Given the description of an element on the screen output the (x, y) to click on. 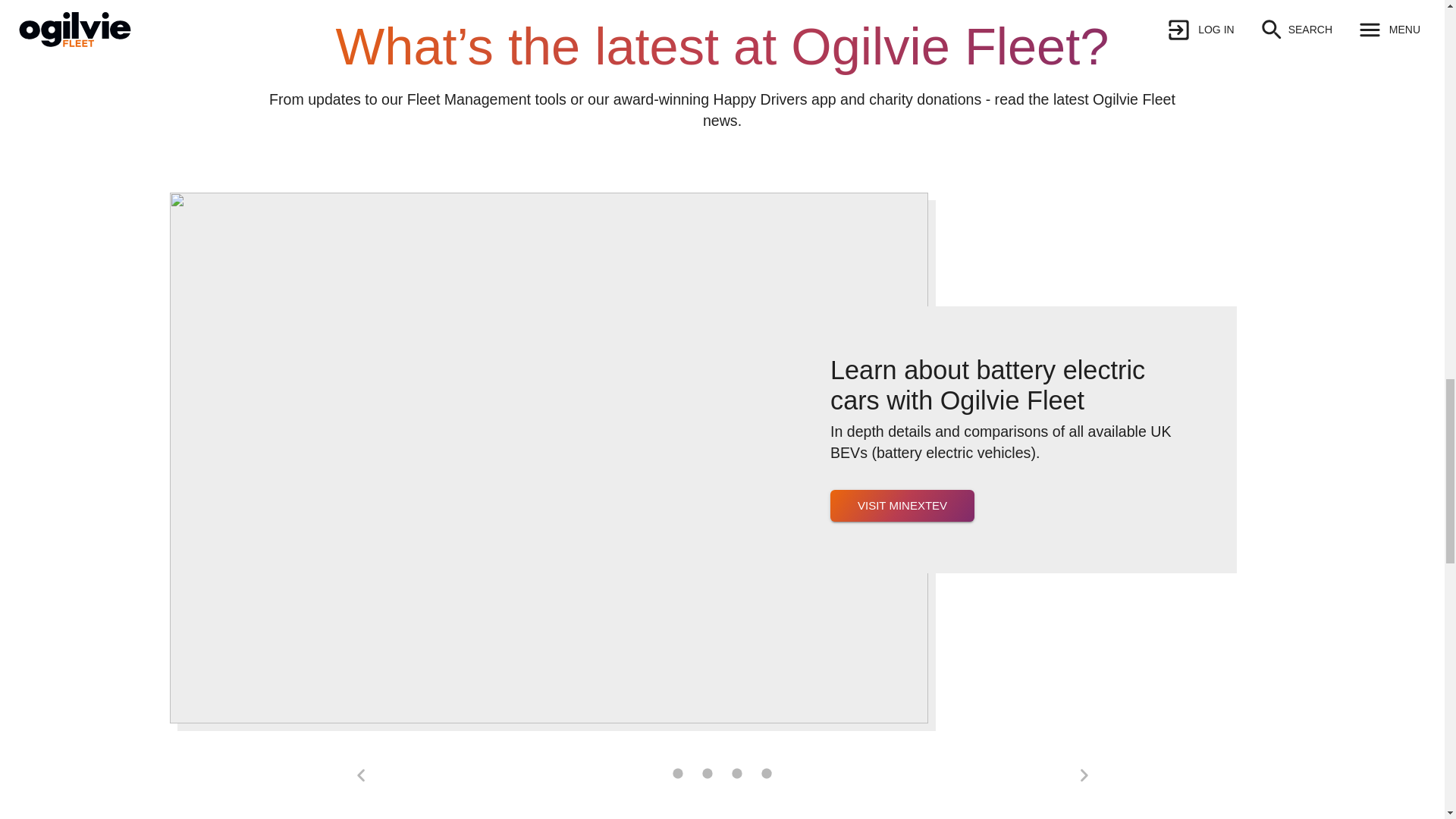
VISIT MINEXTEV (901, 504)
